Given the description of an element on the screen output the (x, y) to click on. 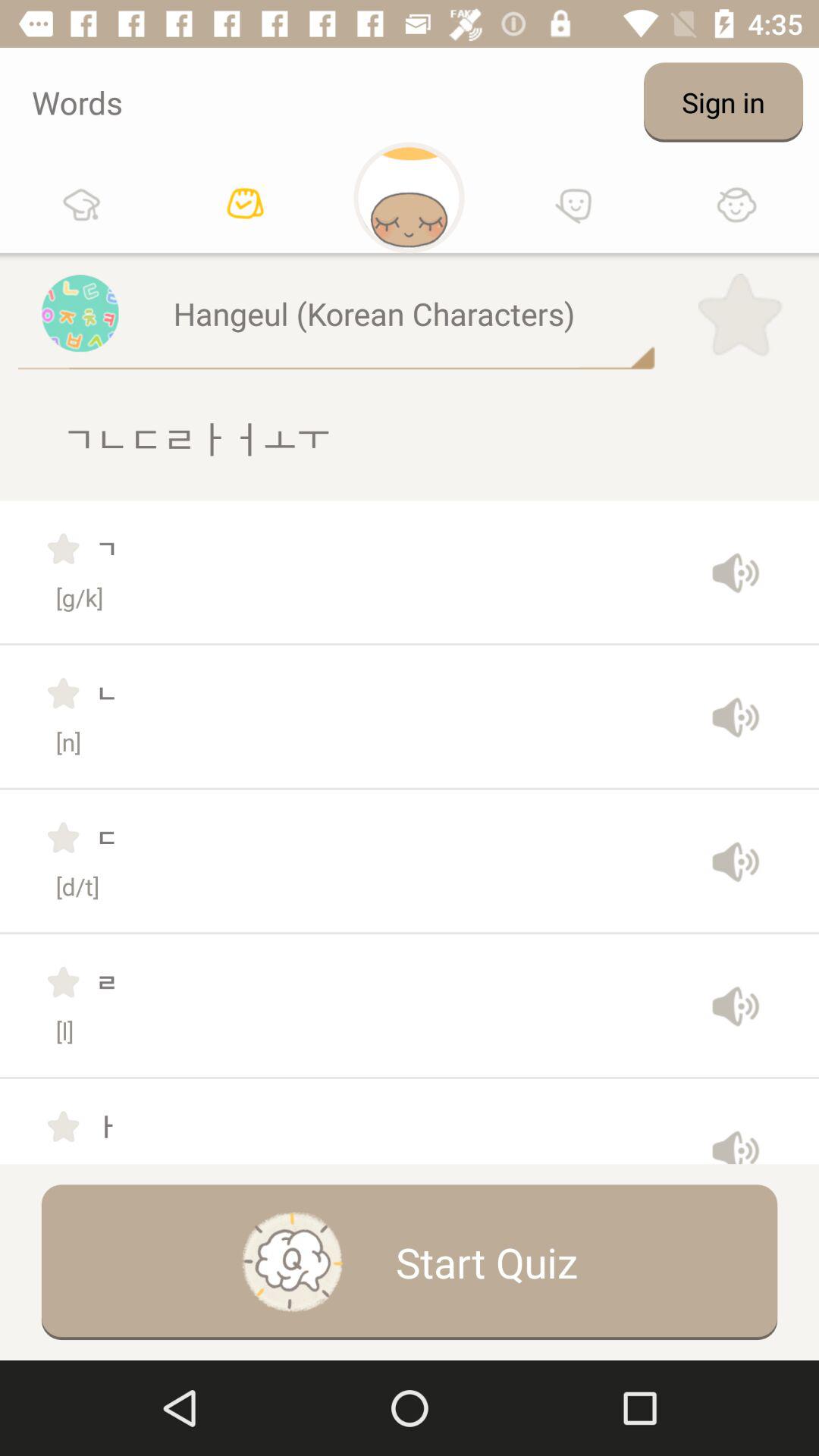
select the app to the right of words icon (723, 102)
